Given the description of an element on the screen output the (x, y) to click on. 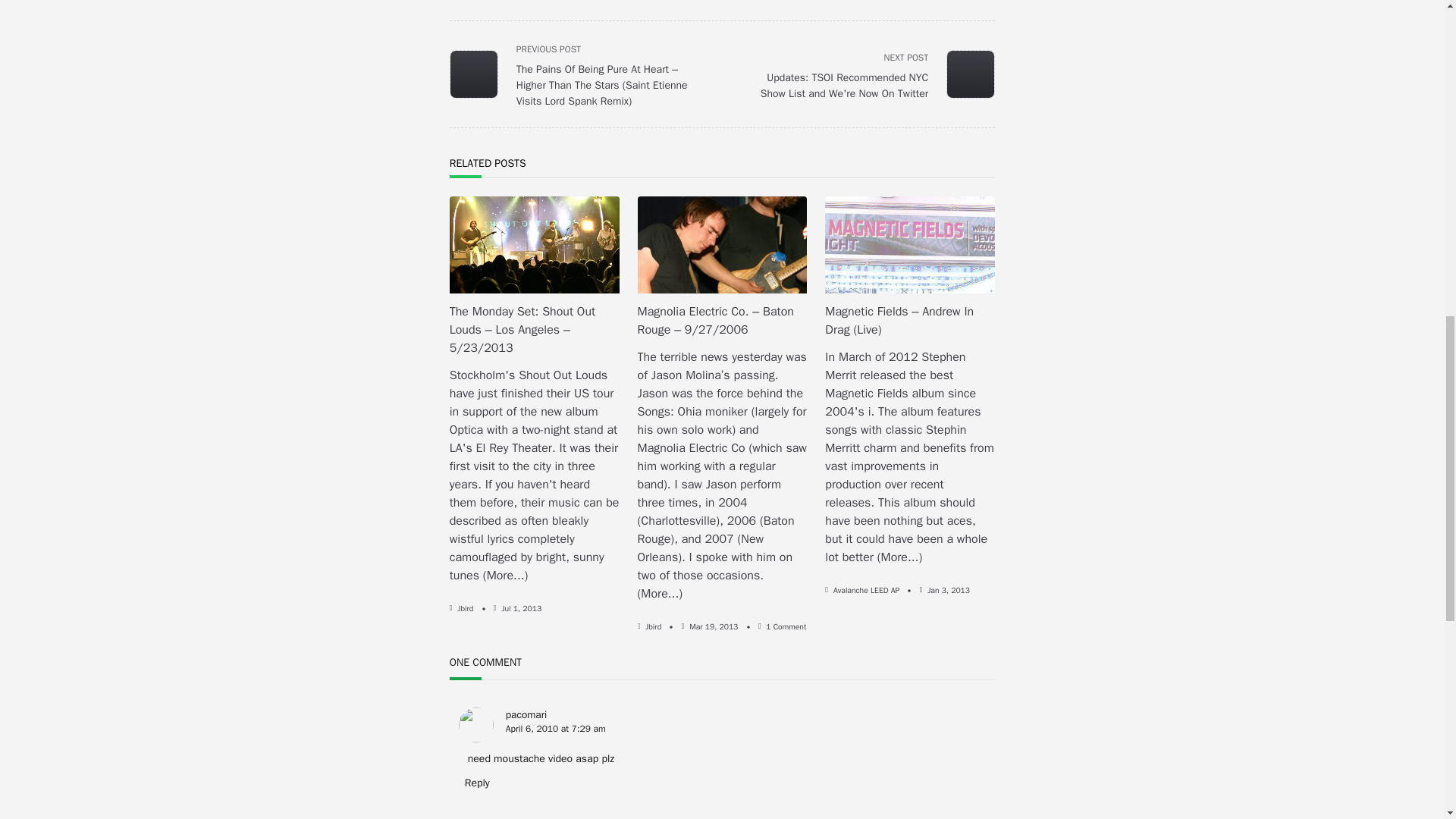
Jbird (653, 626)
Jbird (465, 608)
Jan 3, 2013 (948, 590)
Jul 1, 2013 (520, 608)
Avalanche LEED AP (865, 590)
April 6, 2010 at 7:29 am (555, 728)
Reply (473, 782)
Mar 19, 2013 (713, 626)
